Given the description of an element on the screen output the (x, y) to click on. 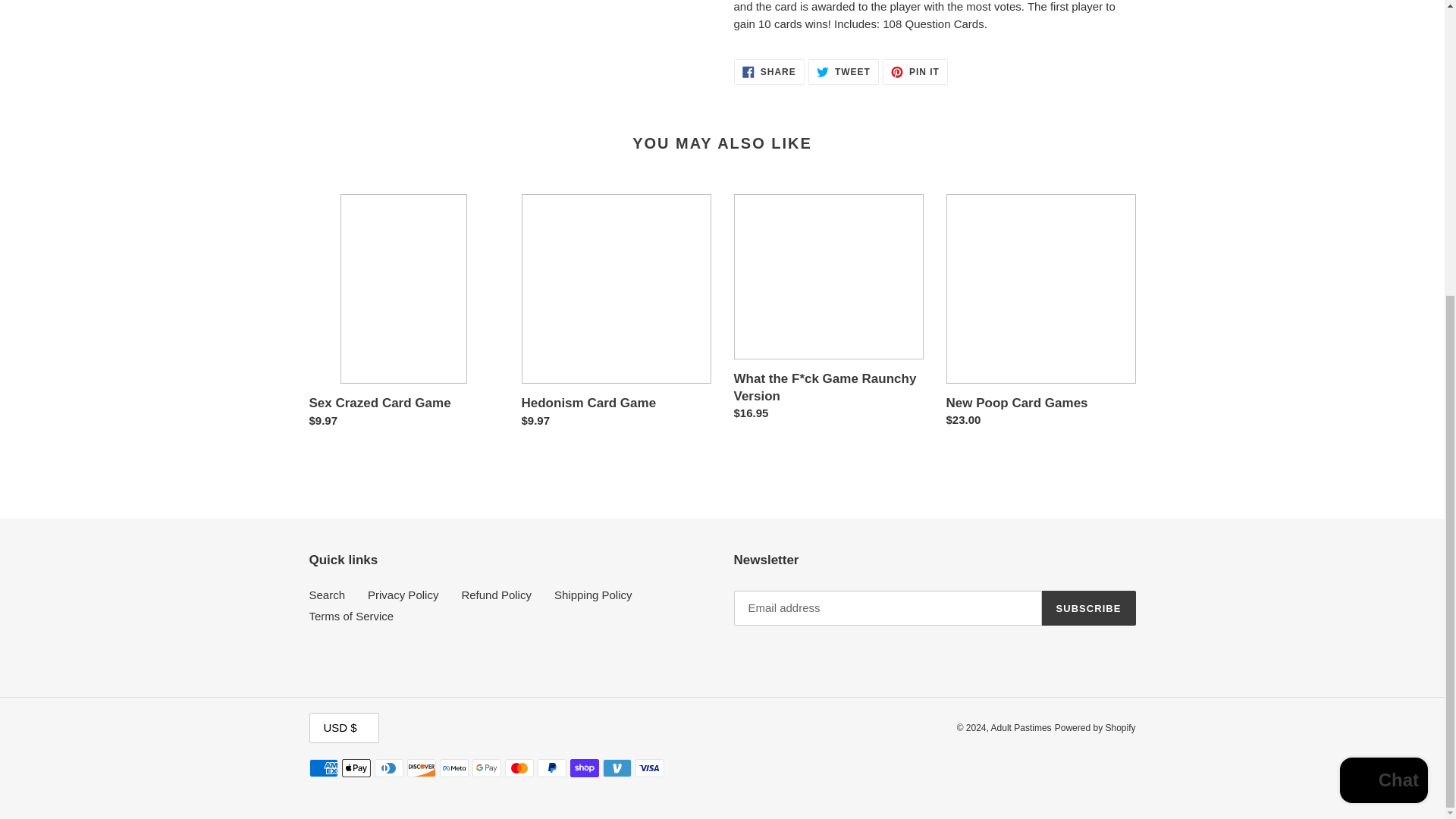
Search (914, 71)
Shopify online store chat (327, 594)
